Given the description of an element on the screen output the (x, y) to click on. 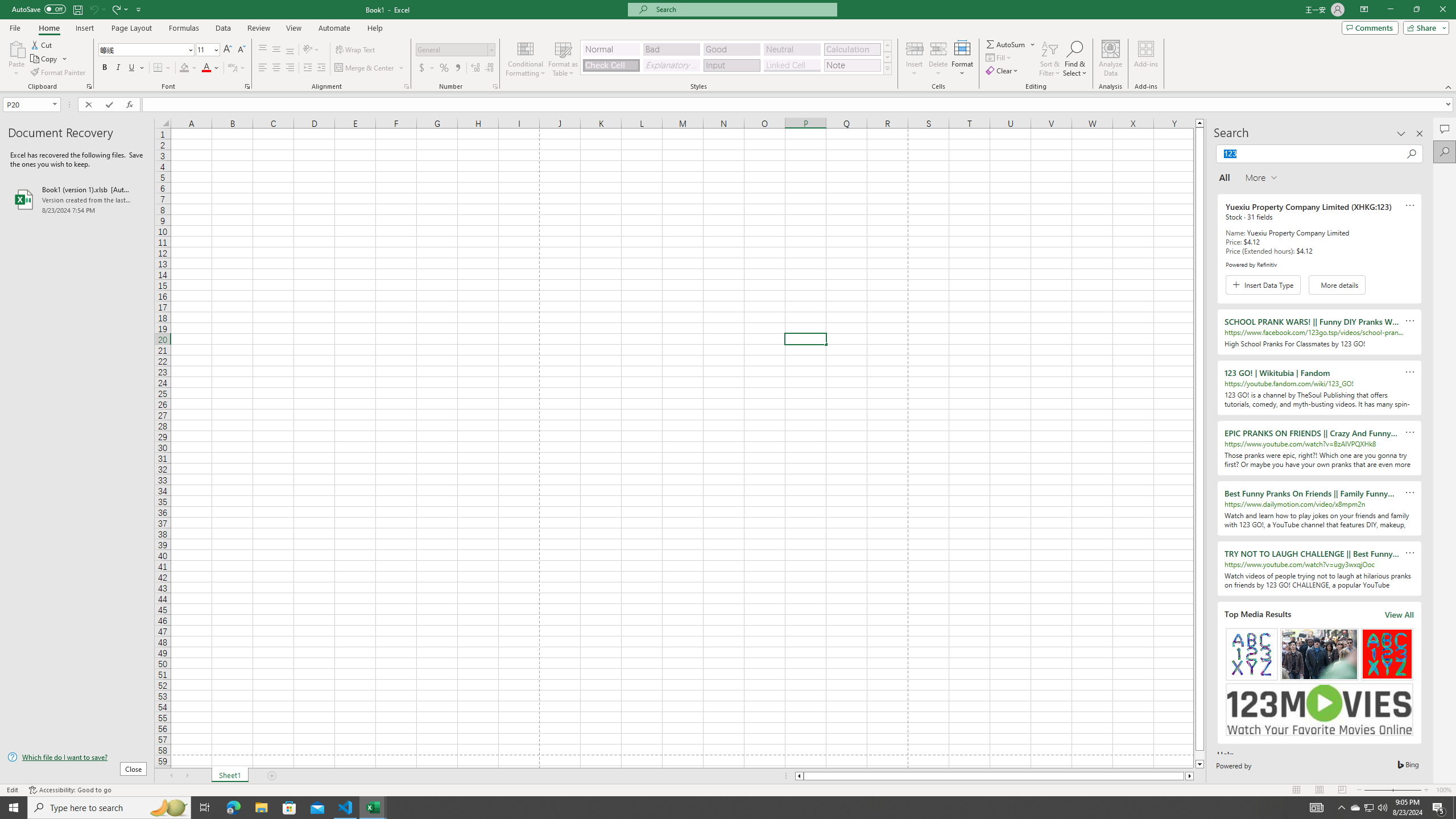
Fill Color (188, 67)
Fill (999, 56)
Clear (1003, 69)
Top Align (262, 49)
Input (731, 65)
Decrease Indent (307, 67)
Increase Decimal (474, 67)
Office Clipboard... (88, 85)
Bottom Border (157, 67)
Formula Bar (799, 104)
Paste (16, 48)
